Given the description of an element on the screen output the (x, y) to click on. 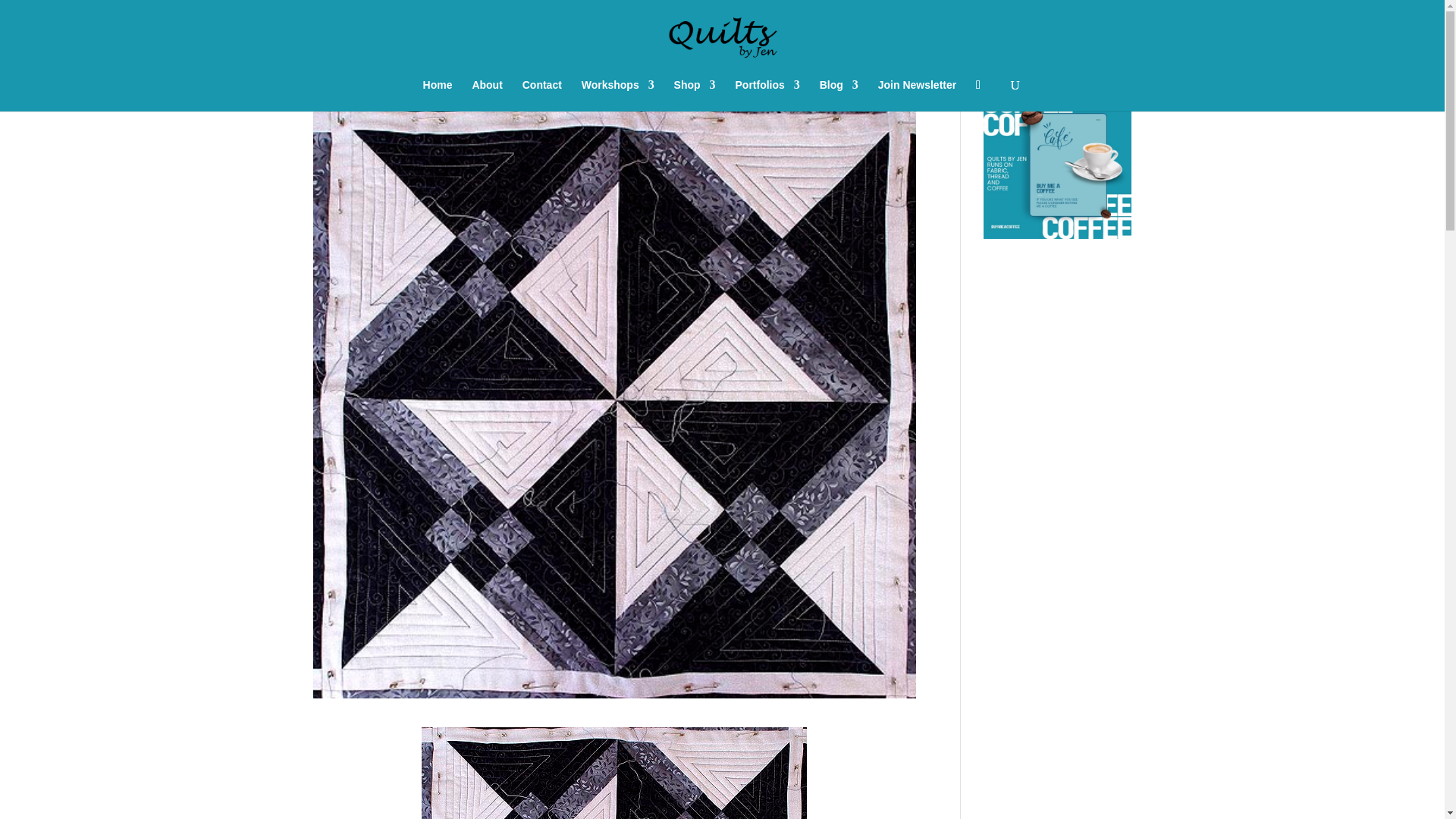
Shop (695, 95)
Join Newsletter (916, 95)
Blog (839, 95)
Workshops (616, 95)
UFO Spotlight (479, 82)
Jen (334, 82)
Portfolios (767, 95)
Posts by Jen (334, 82)
Free Motion Friday (396, 82)
2 comments (550, 82)
